Given the description of an element on the screen output the (x, y) to click on. 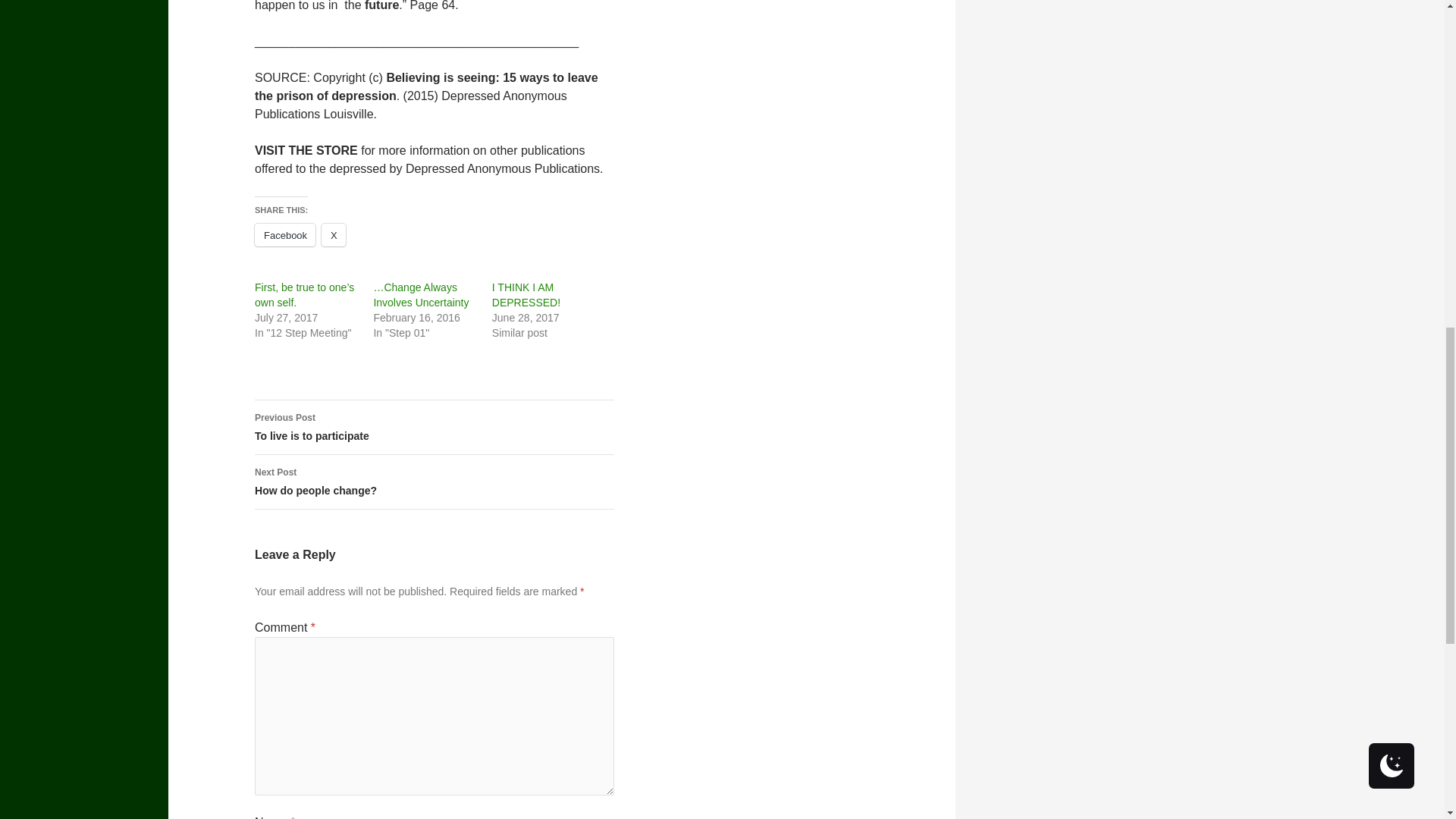
I THINK I AM DEPRESSED! (526, 294)
Click to share on Facebook (284, 234)
Click to share on X (333, 234)
